Given the description of an element on the screen output the (x, y) to click on. 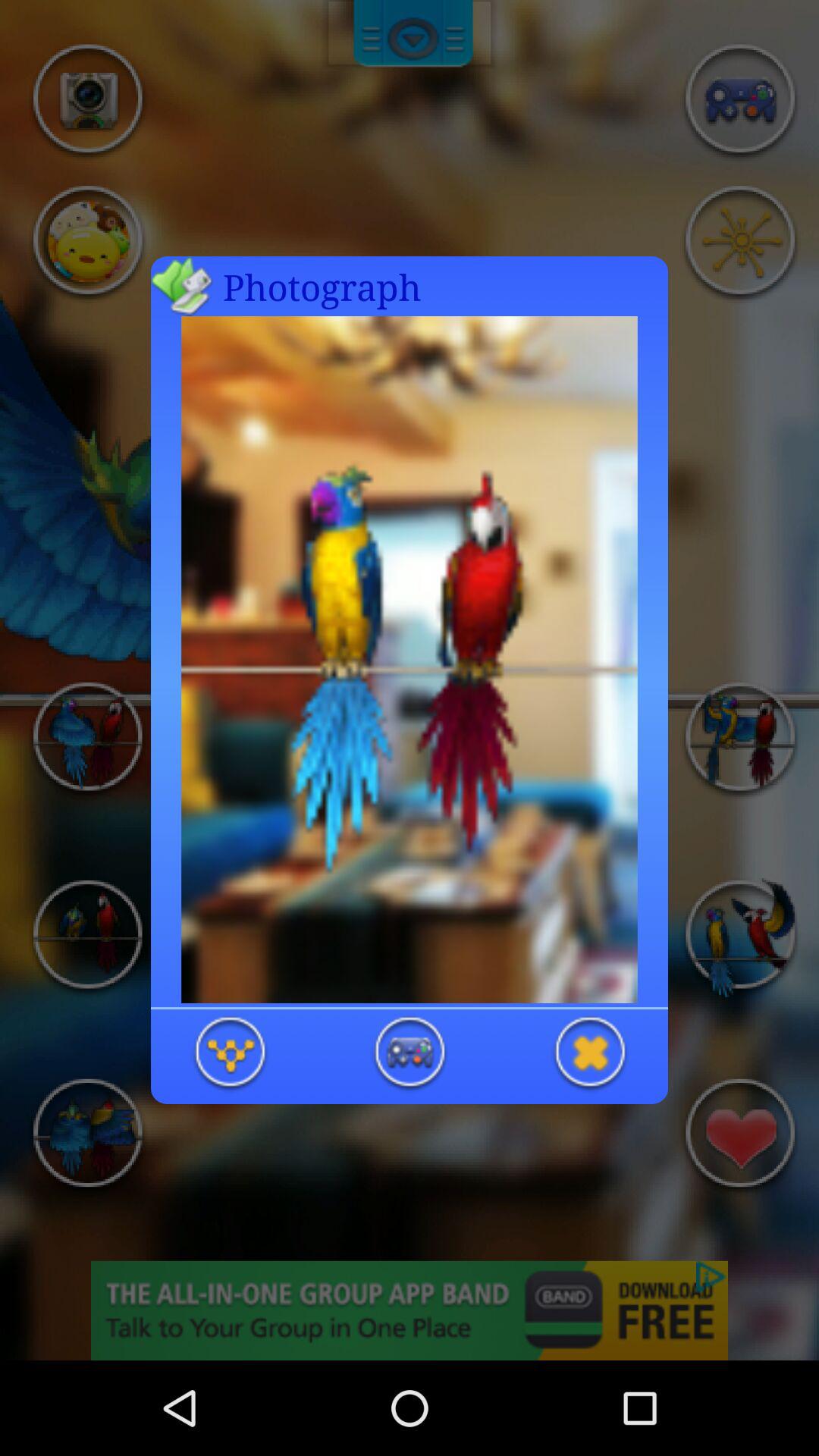
select option (409, 1054)
